Given the description of an element on the screen output the (x, y) to click on. 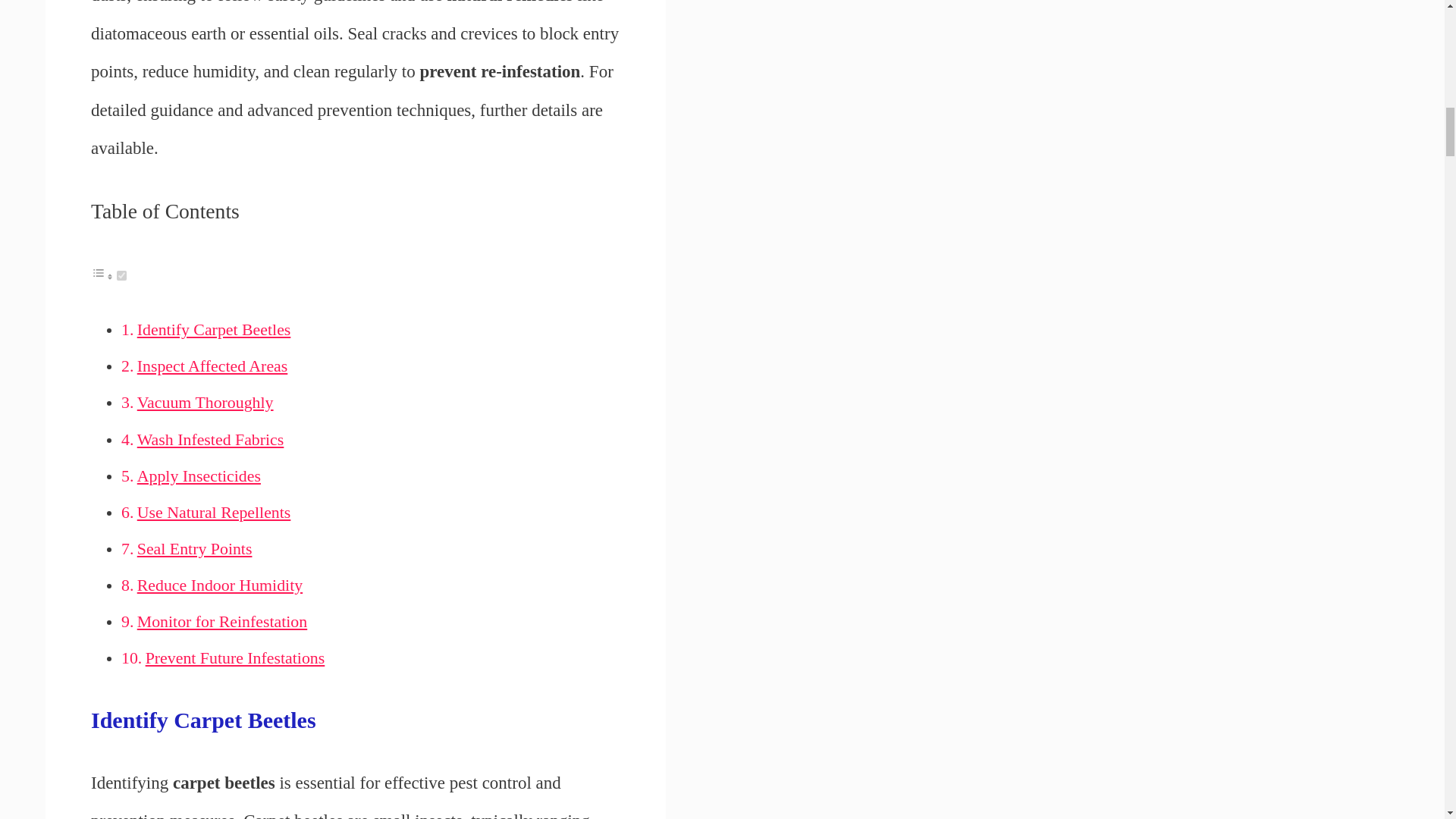
Inspect Affected Areas (212, 366)
Inspect Affected Areas (212, 366)
Monitor for Reinfestation (221, 621)
Vacuum Thoroughly (204, 402)
Seal Entry Points (193, 548)
Reduce Indoor Humidity (219, 585)
Identify Carpet Beetles (213, 330)
Seal Entry Points (193, 548)
Apply Insecticides (198, 475)
Wash Infested Fabrics (209, 439)
Reduce Indoor Humidity (219, 585)
Vacuum Thoroughly (204, 402)
Monitor for Reinfestation (221, 621)
Use Natural Repellents (213, 512)
on (121, 275)
